Given the description of an element on the screen output the (x, y) to click on. 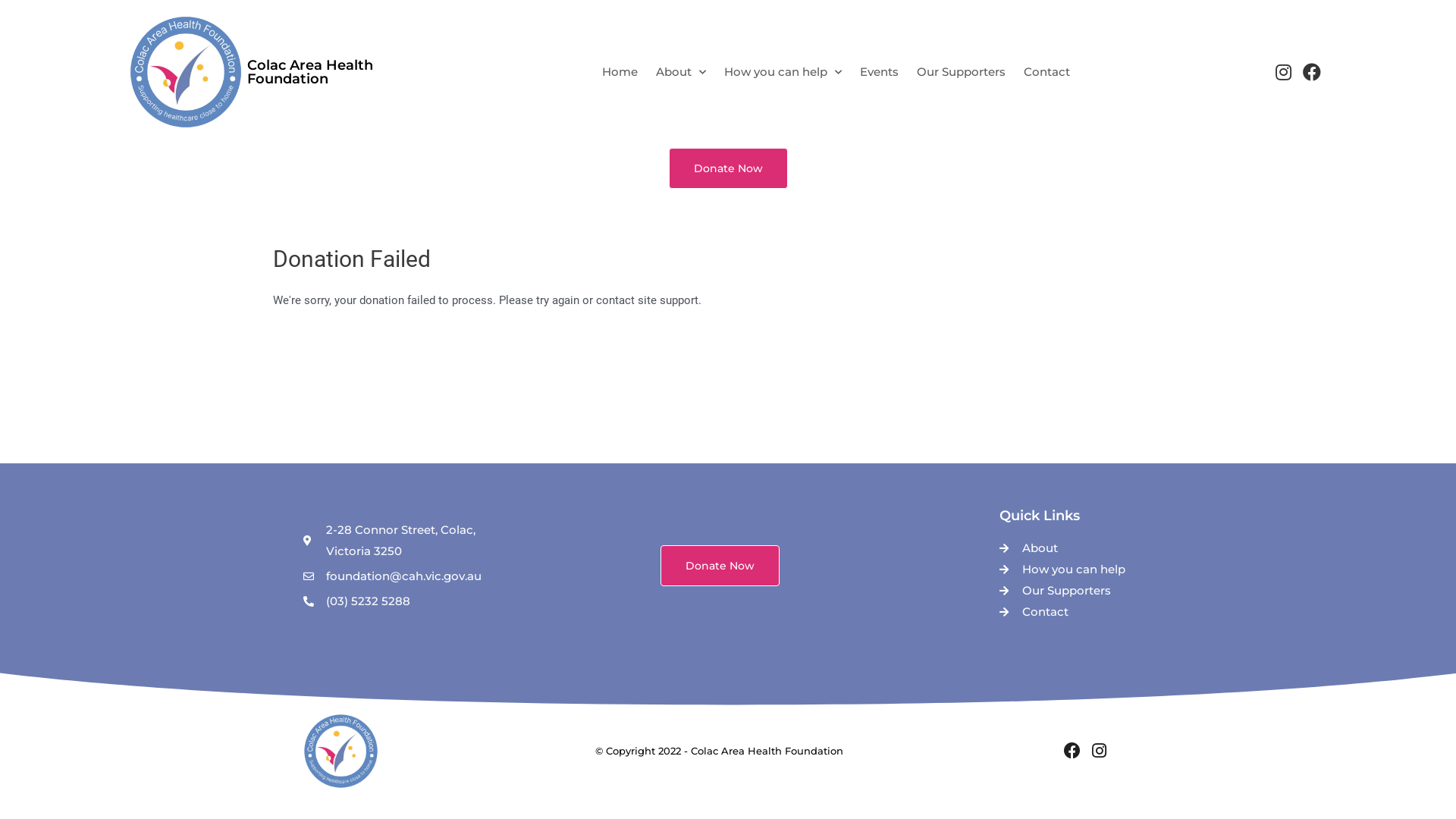
Our Supporters Element type: text (960, 71)
(03) 5232 5288 Element type: text (390, 600)
Contact Element type: text (1074, 611)
Events Element type: text (878, 71)
Donate Now Element type: text (727, 167)
Colac Area Health Foundation Element type: text (310, 71)
Donate Now Element type: text (719, 565)
About Element type: text (680, 71)
How you can help Element type: text (782, 71)
How you can help Element type: text (1074, 569)
foundation@cah.vic.gov.au Element type: text (390, 575)
Contact Element type: text (1046, 71)
Our Supporters Element type: text (1074, 590)
Home Element type: text (619, 71)
About Element type: text (1074, 547)
